Given the description of an element on the screen output the (x, y) to click on. 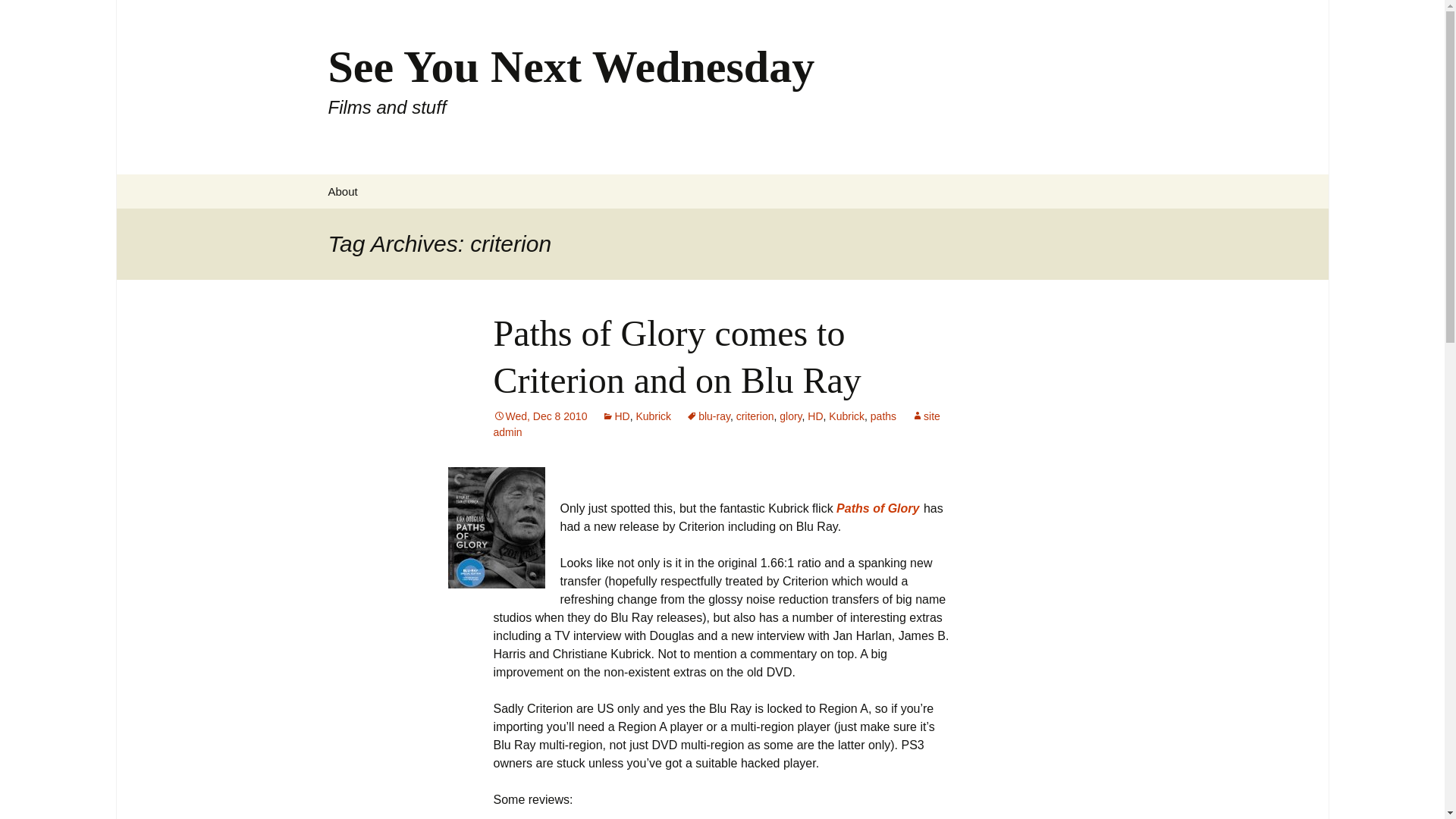
Paths of Glory comes to Criterion and on Blu Ray (676, 356)
Wed, Dec 8 2010 (539, 416)
About (342, 191)
HD (815, 416)
blu-ray (707, 416)
HD (615, 416)
View all posts by site admin (716, 424)
Paths of Glory (876, 508)
Search (18, 15)
